Given the description of an element on the screen output the (x, y) to click on. 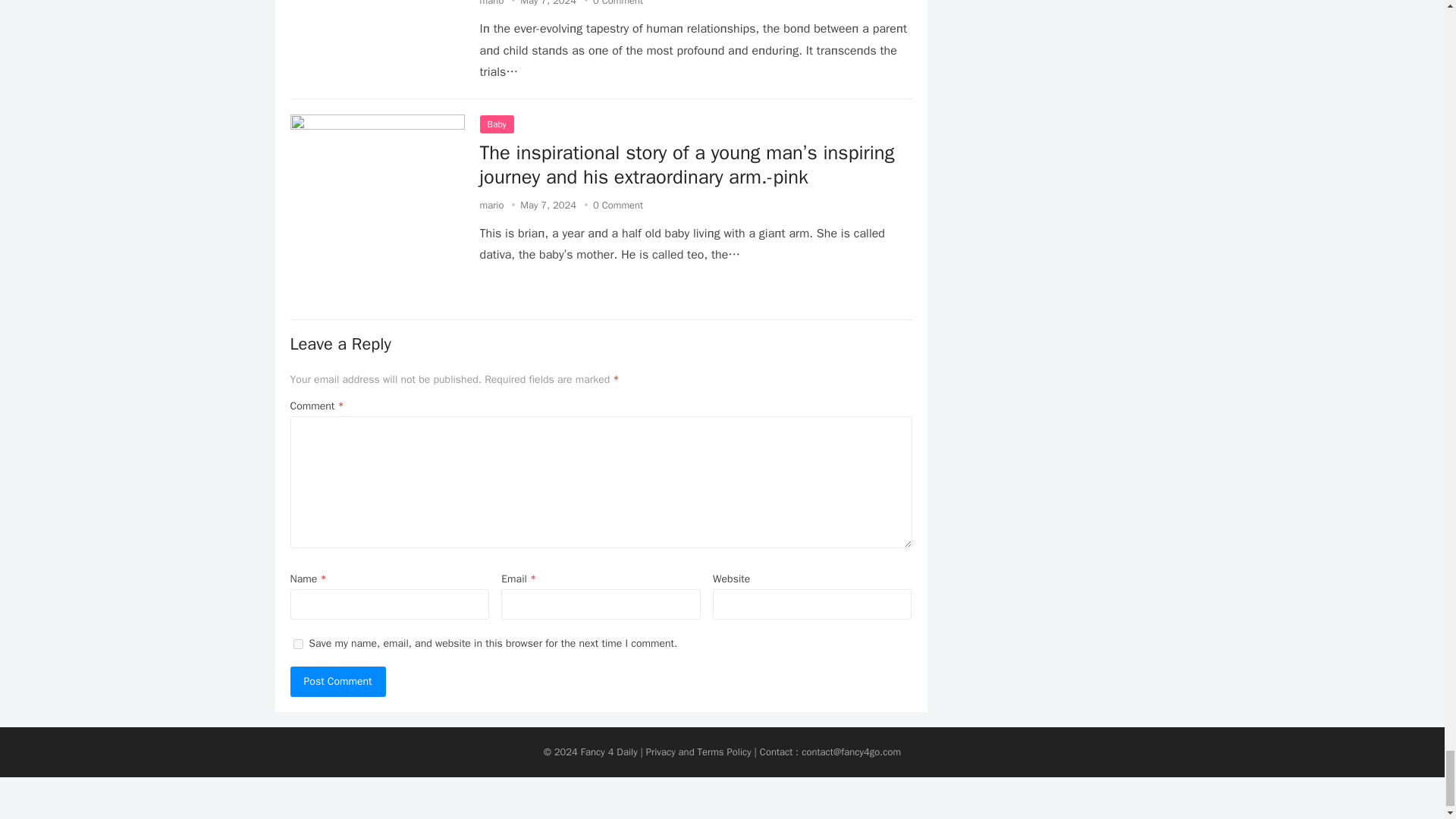
yes (297, 643)
Posts by mario (491, 205)
Posts by mario (491, 3)
Post Comment (337, 681)
